Given the description of an element on the screen output the (x, y) to click on. 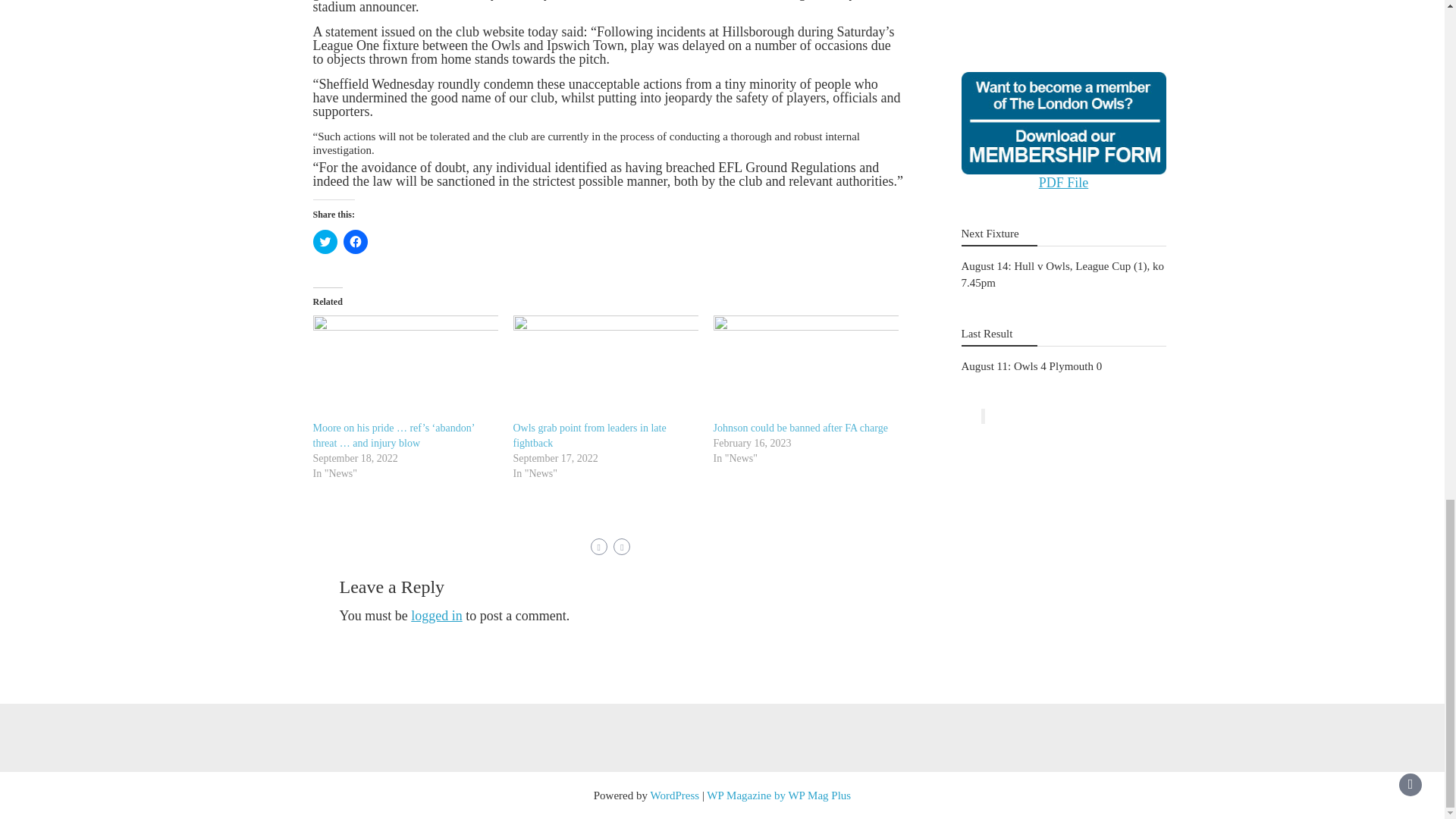
Click to share on Facebook (354, 241)
Owls grab point from leaders in late fightback (588, 435)
Johnson could be banned after FA charge (805, 367)
Johnson could be banned after FA charge (799, 428)
Owls grab point from leaders in late fightback (588, 435)
Click to share on Twitter (324, 241)
Owls grab point from leaders in late fightback (604, 367)
Johnson could be banned after FA charge (799, 428)
